Given the description of an element on the screen output the (x, y) to click on. 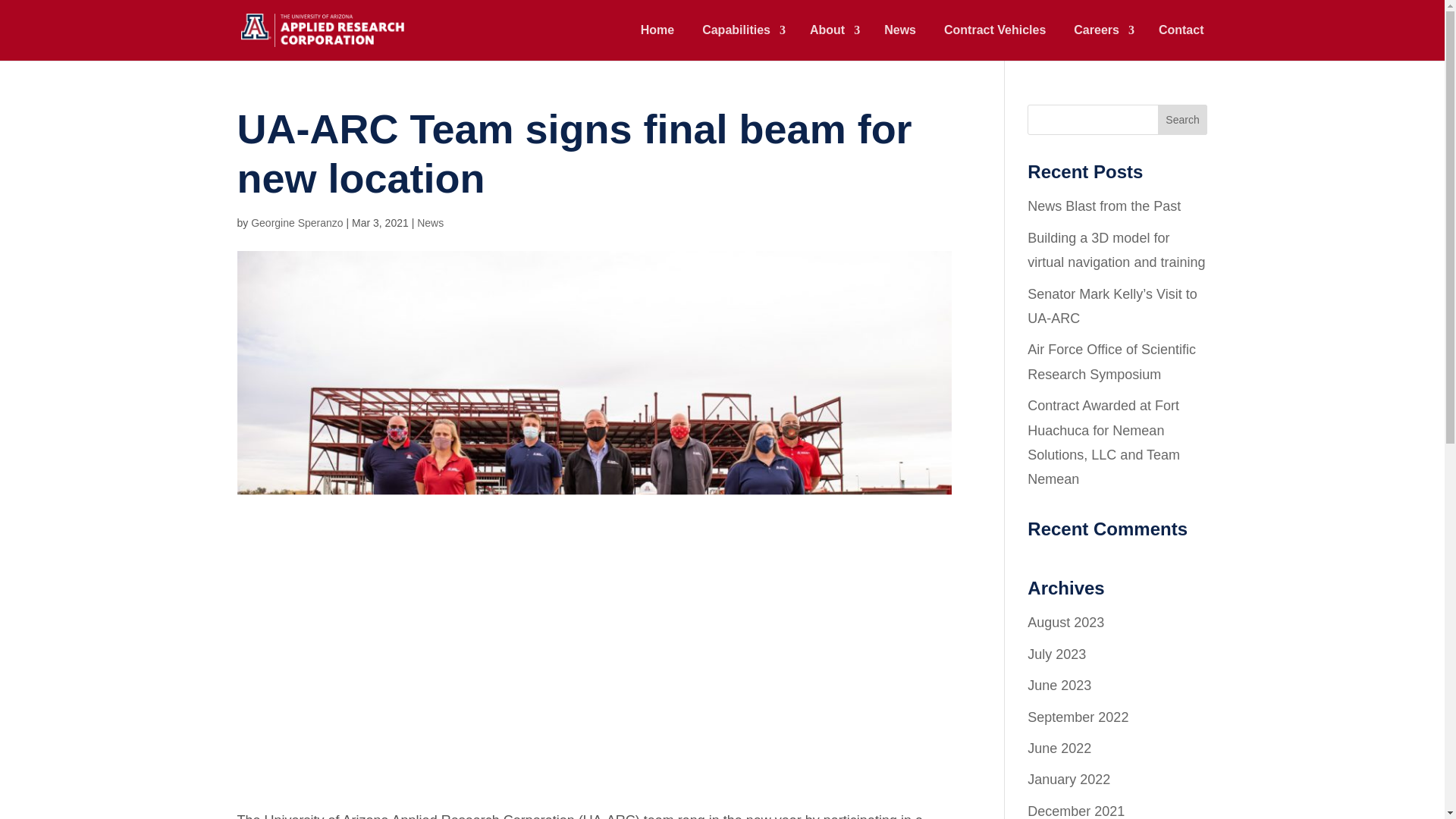
December 2021 (1075, 811)
Building a 3D model for virtual navigation and training (1116, 250)
Home (657, 42)
September 2022 (1077, 717)
June 2023 (1058, 685)
Air Force Office of Scientific Research Symposium (1111, 361)
Georgine Speranzo (296, 223)
Contact (1181, 42)
About (833, 42)
News Blast from the Past (1103, 206)
